Given the description of an element on the screen output the (x, y) to click on. 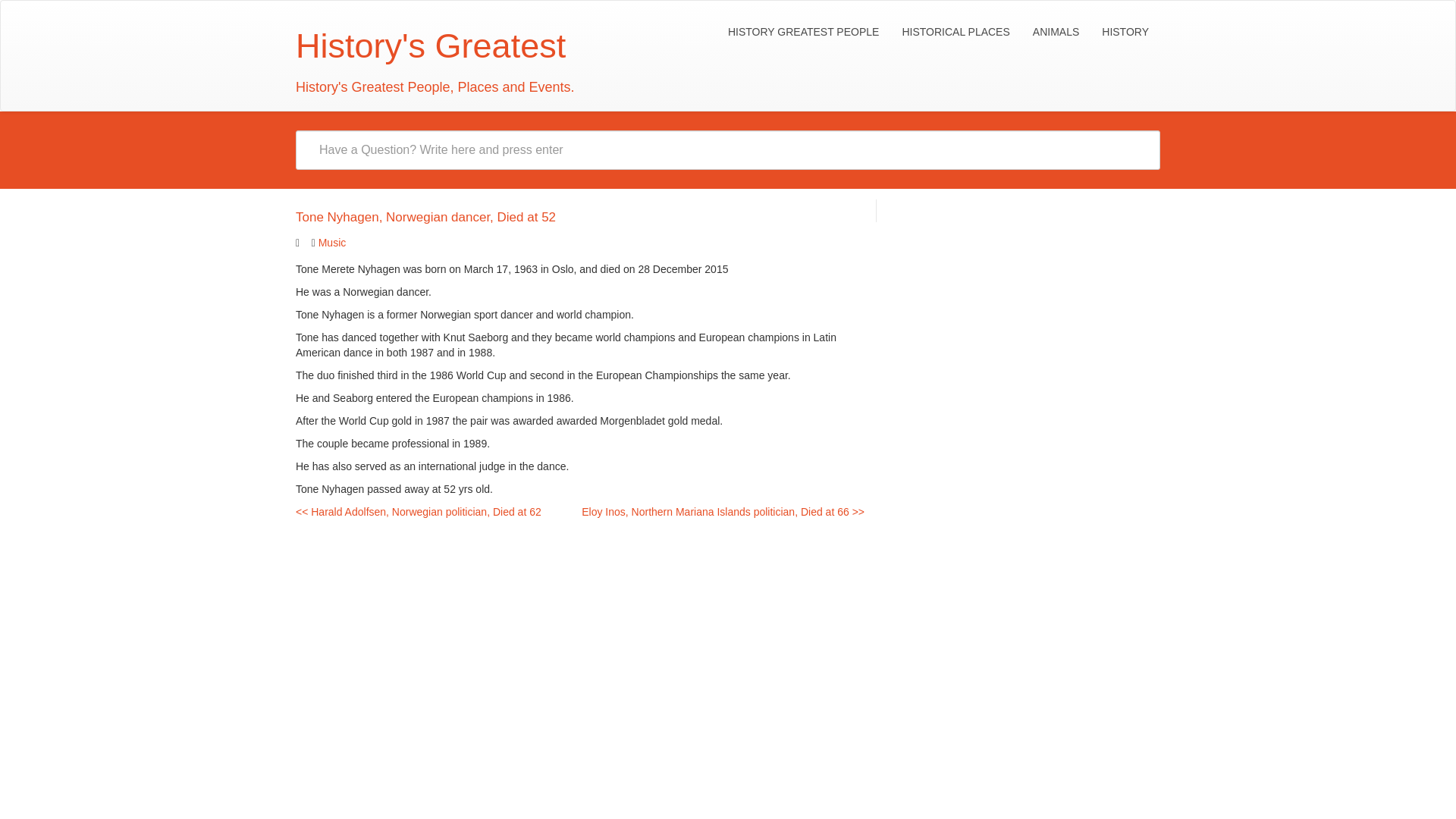
HISTORY GREATEST PEOPLE (802, 31)
History's Greatest People, Places and Events. (429, 59)
HISTORICAL PLACES (954, 31)
HISTORY (1125, 31)
ANIMALS (1056, 31)
Music (332, 242)
